Given the description of an element on the screen output the (x, y) to click on. 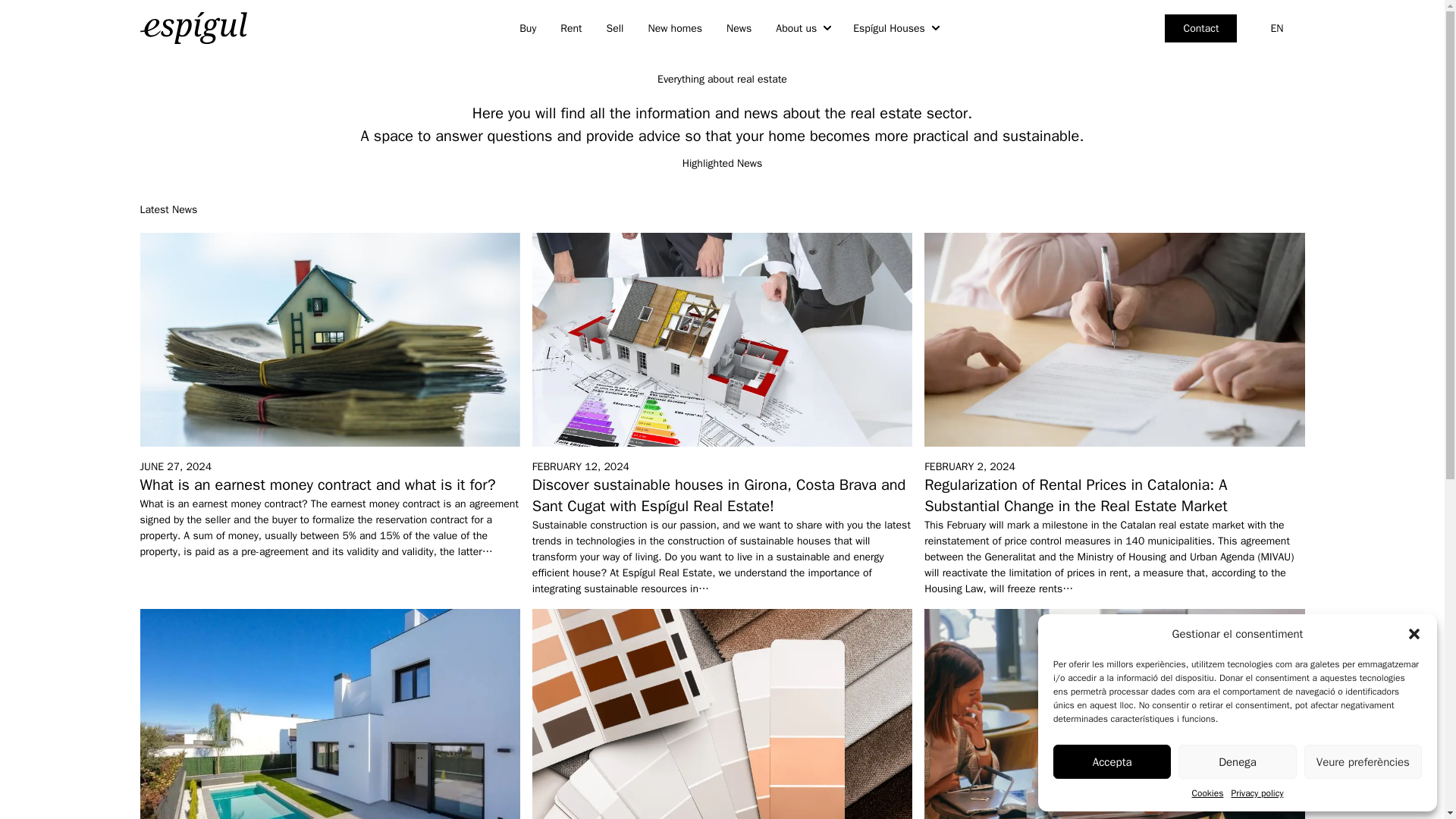
Denega (1236, 761)
What is an earnest money contract and what is it for? (317, 484)
What is an earnest money contract and what is it for? (317, 484)
Rent (571, 27)
New homes (674, 27)
News (738, 27)
Cookies (1208, 793)
About us (802, 27)
Privacy policy (1256, 793)
Accepta (1111, 761)
Sell (614, 27)
Buy (527, 27)
Contact (1200, 27)
